Given the description of an element on the screen output the (x, y) to click on. 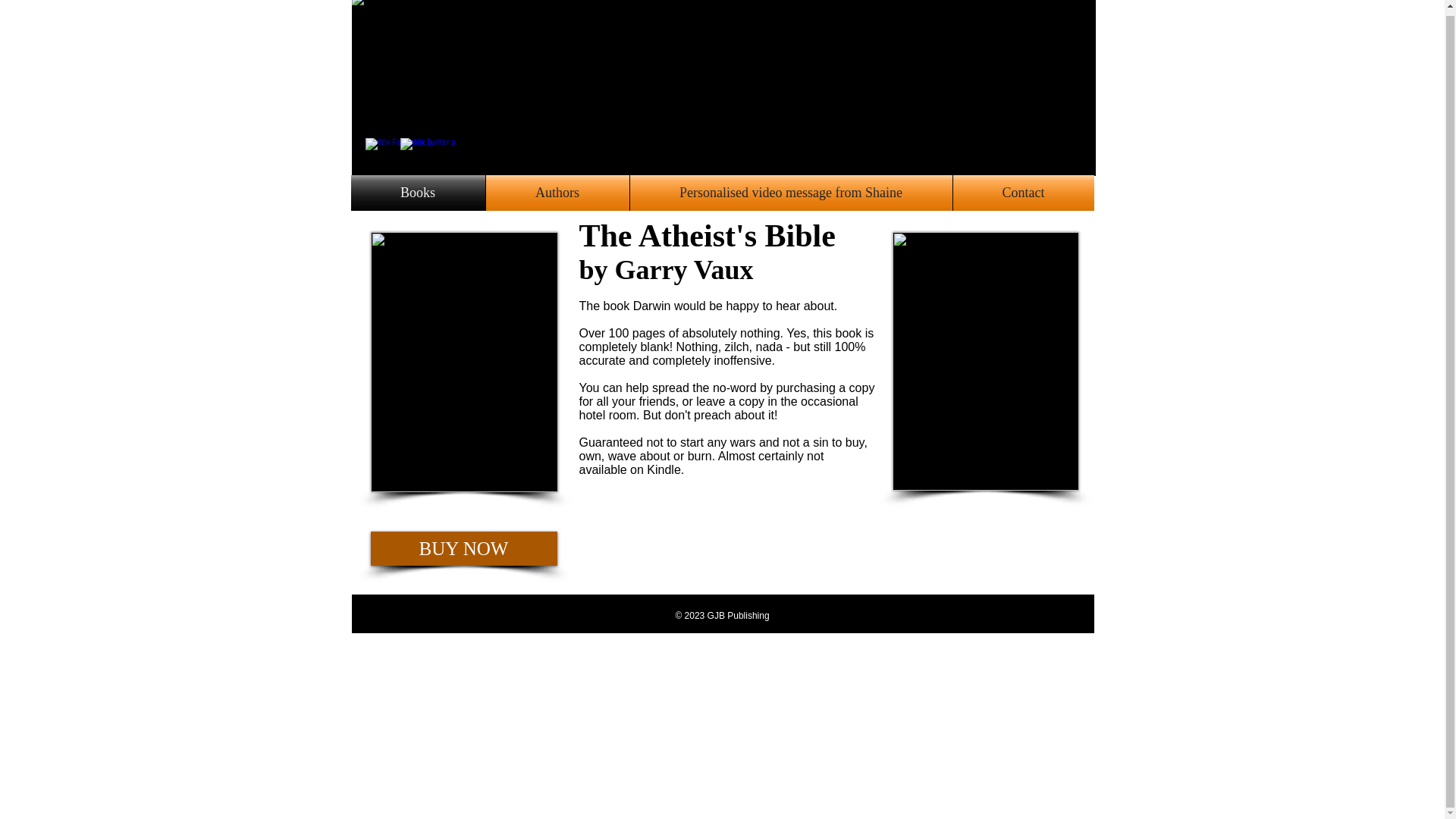
Books (417, 192)
Personalised video message from Shaine (790, 192)
Authors (556, 192)
Contact (1022, 192)
